Given the description of an element on the screen output the (x, y) to click on. 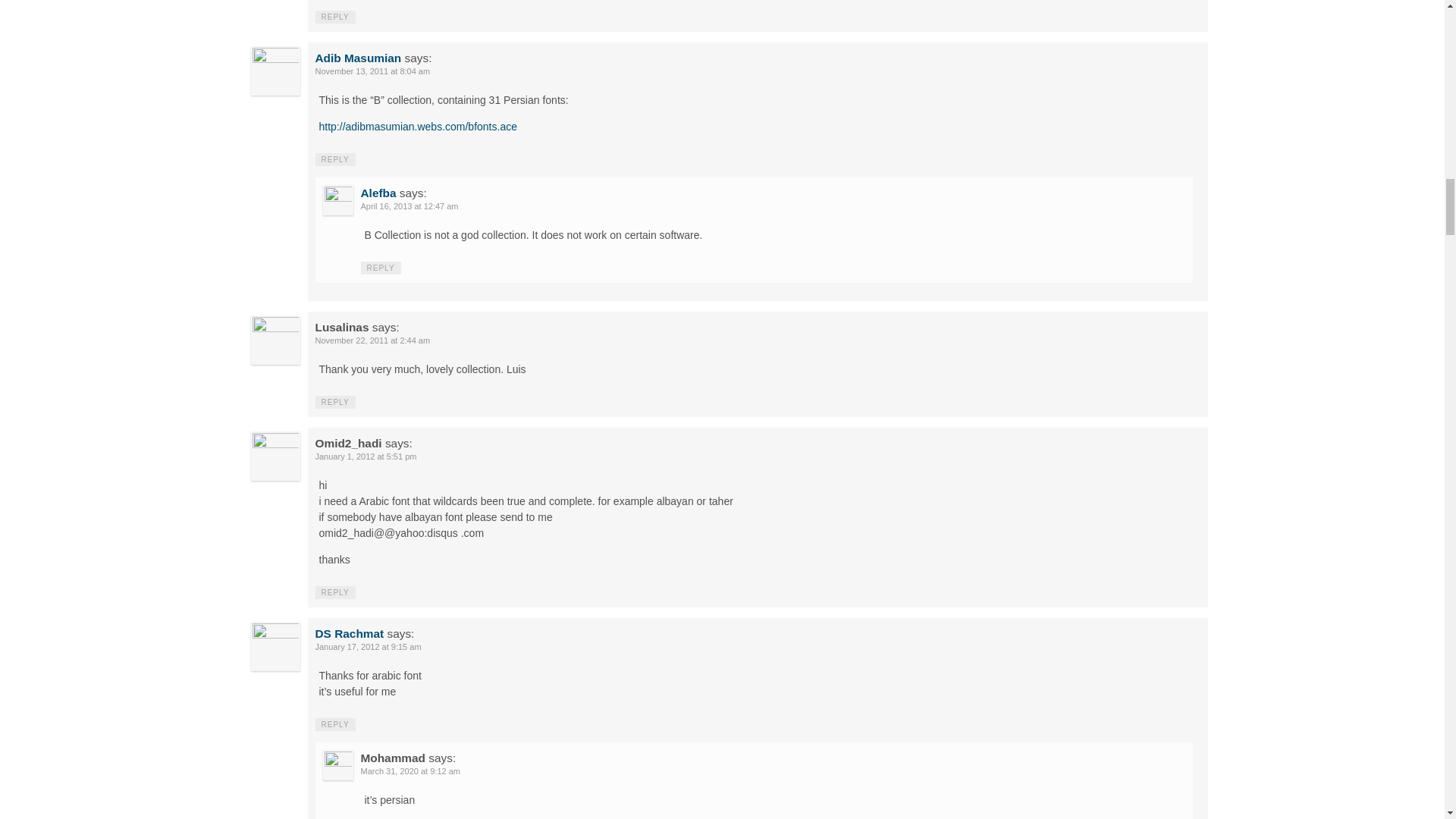
REPLY (381, 267)
Adib Masumian (358, 57)
November 13, 2011 at 8:04 am (372, 71)
April 16, 2013 at 12:47 am (409, 205)
REPLY (335, 159)
REPLY (335, 401)
Alefba (378, 192)
November 22, 2011 at 2:44 am (372, 339)
REPLY (335, 16)
